Given the description of an element on the screen output the (x, y) to click on. 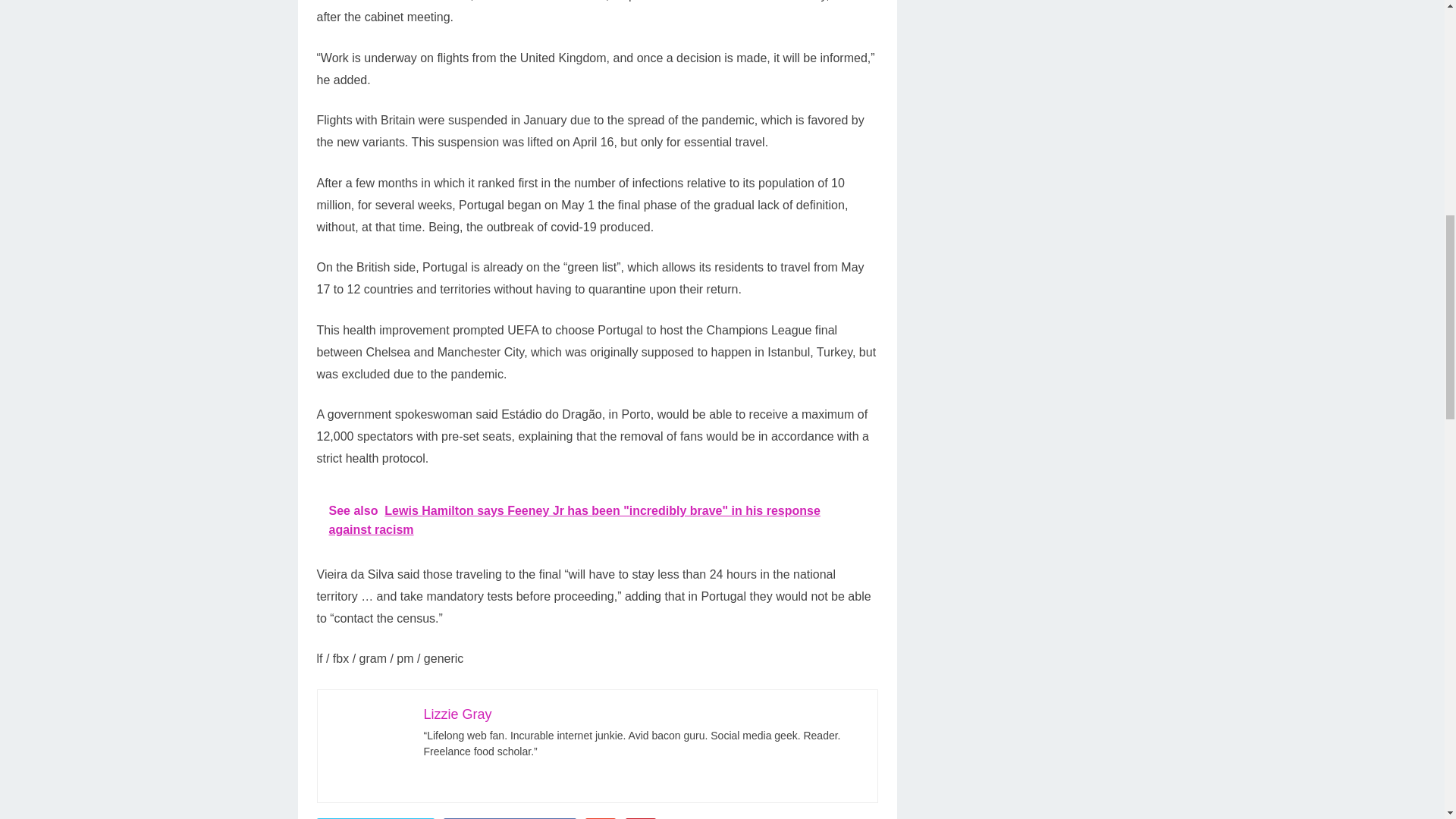
Lizzie Gray (457, 713)
